Given the description of an element on the screen output the (x, y) to click on. 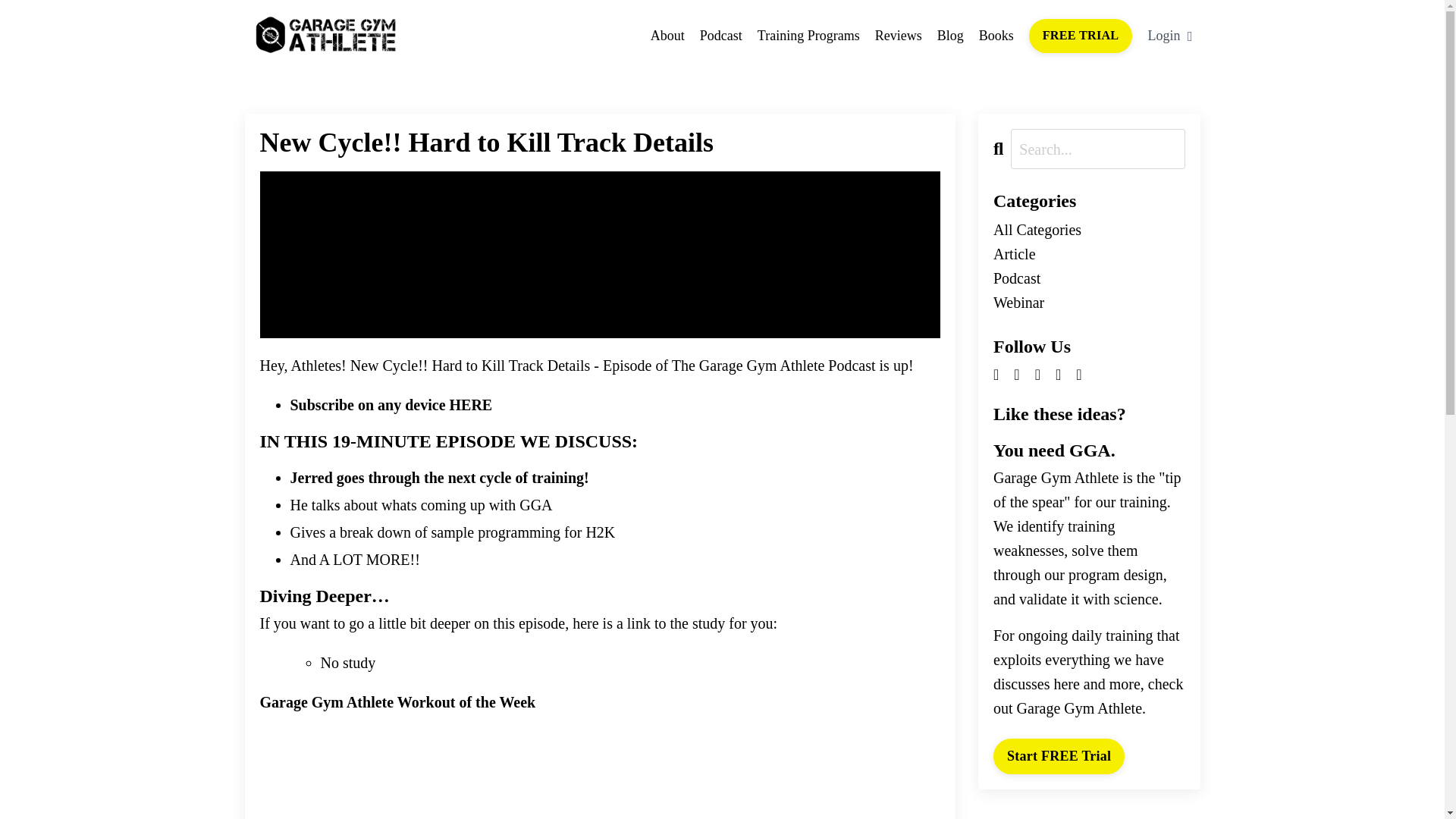
Podcast (721, 35)
Article (1088, 253)
Reviews (898, 35)
Blog (950, 35)
All Categories (1088, 229)
Start FREE Trial (1058, 755)
About (667, 35)
FREE TRIAL (1080, 35)
Subscribe on any device HERE (390, 404)
YouTube video player (599, 772)
Training Programs (808, 35)
Login (1169, 35)
Books (995, 35)
Podcast (1088, 278)
Webinar (1088, 302)
